Given the description of an element on the screen output the (x, y) to click on. 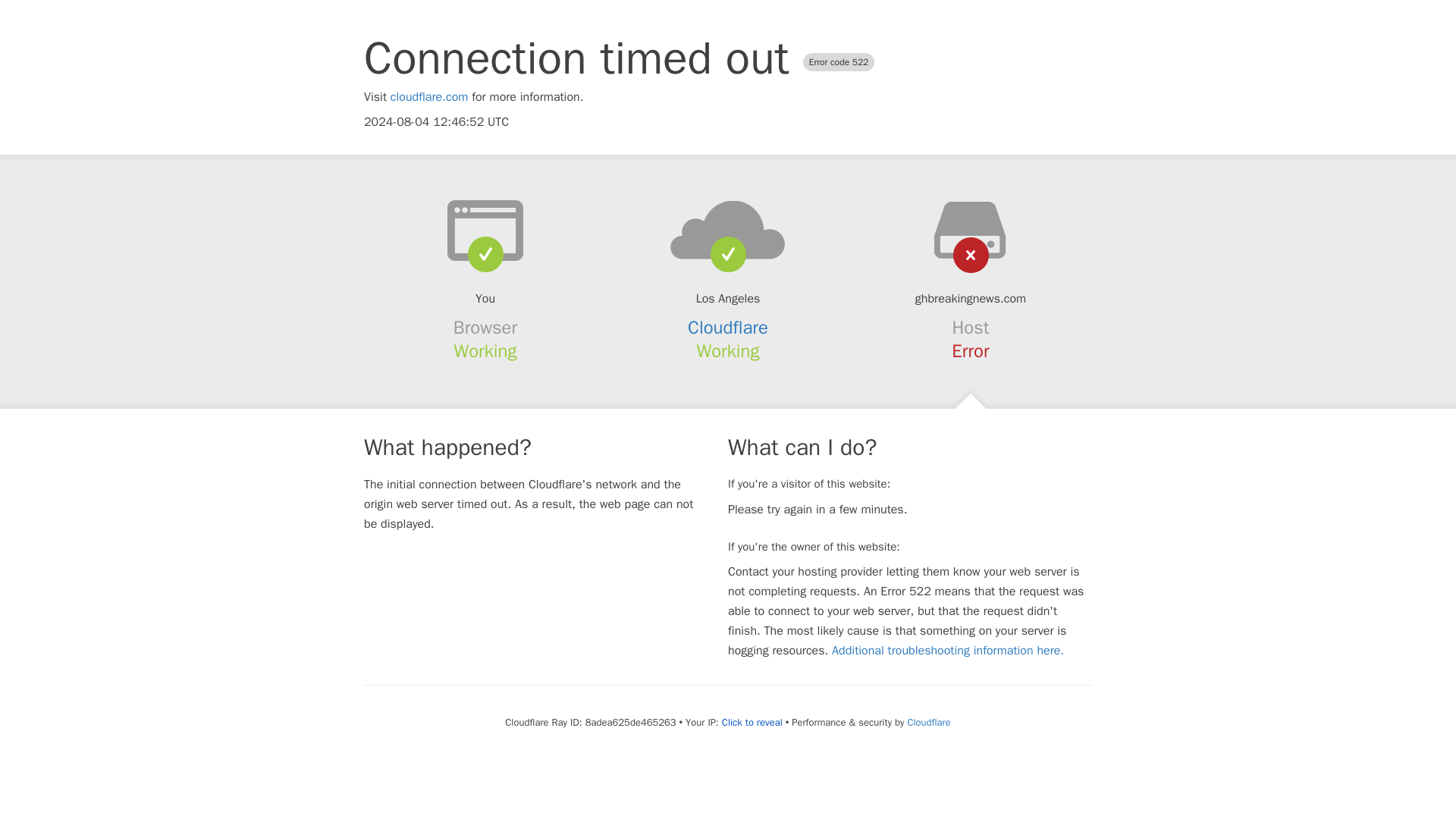
Cloudflare (727, 327)
Additional troubleshooting information here. (947, 650)
Click to reveal (752, 722)
Cloudflare (928, 721)
cloudflare.com (429, 96)
